Given the description of an element on the screen output the (x, y) to click on. 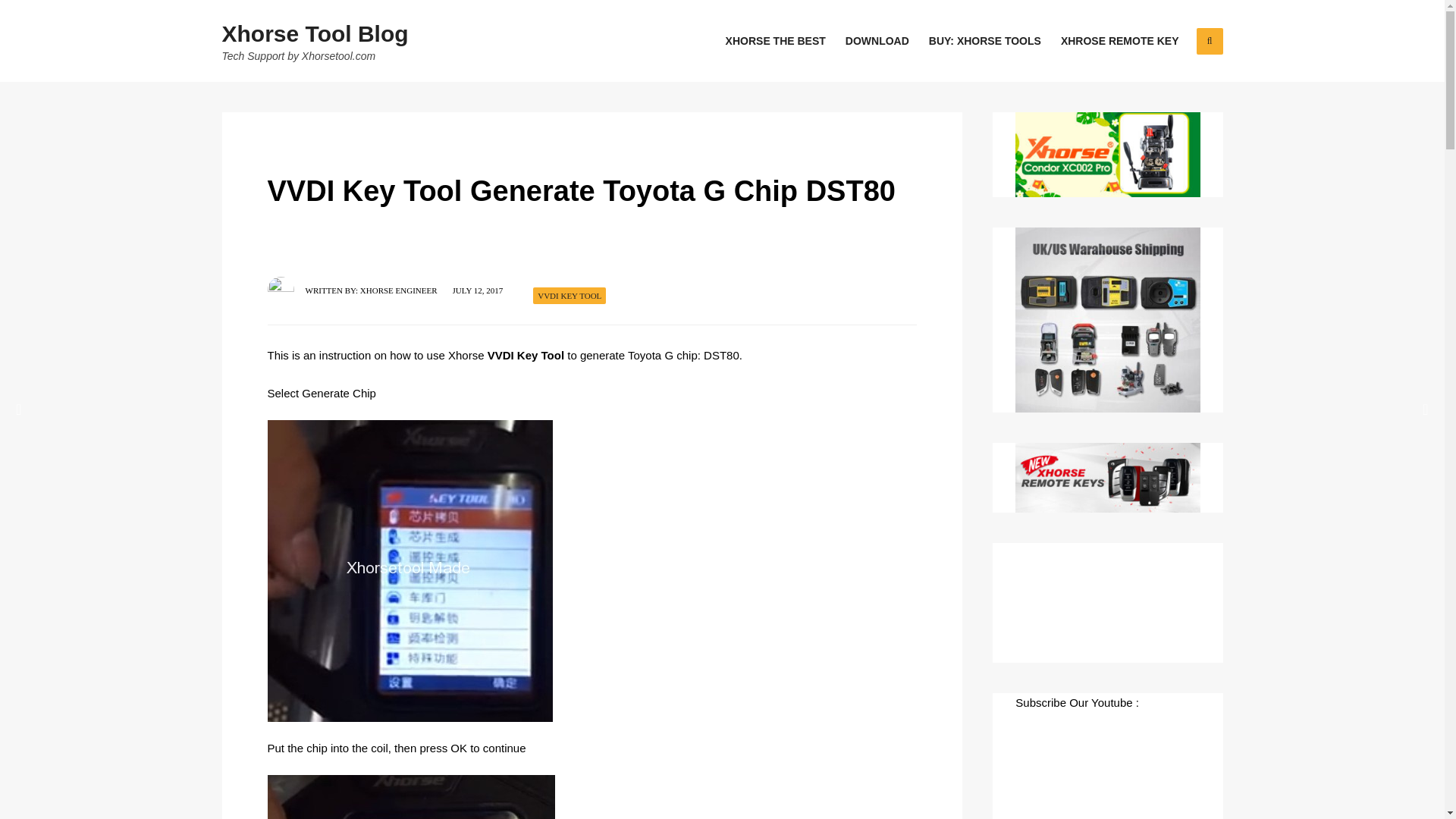
BUY: XHORSE TOOLS (984, 40)
Posts by Xhorse engineer (398, 289)
DOWNLOAD (877, 40)
XHORSE THE BEST (774, 40)
Xhorse Tool Blog (314, 33)
Xhorse tool USA UK Shipping (1106, 319)
VVDI Key Tool (525, 354)
XHROSE REMOTE KEY (1119, 40)
XHORSE ENGINEER (398, 289)
VVDI KEY TOOL (569, 295)
